Given the description of an element on the screen output the (x, y) to click on. 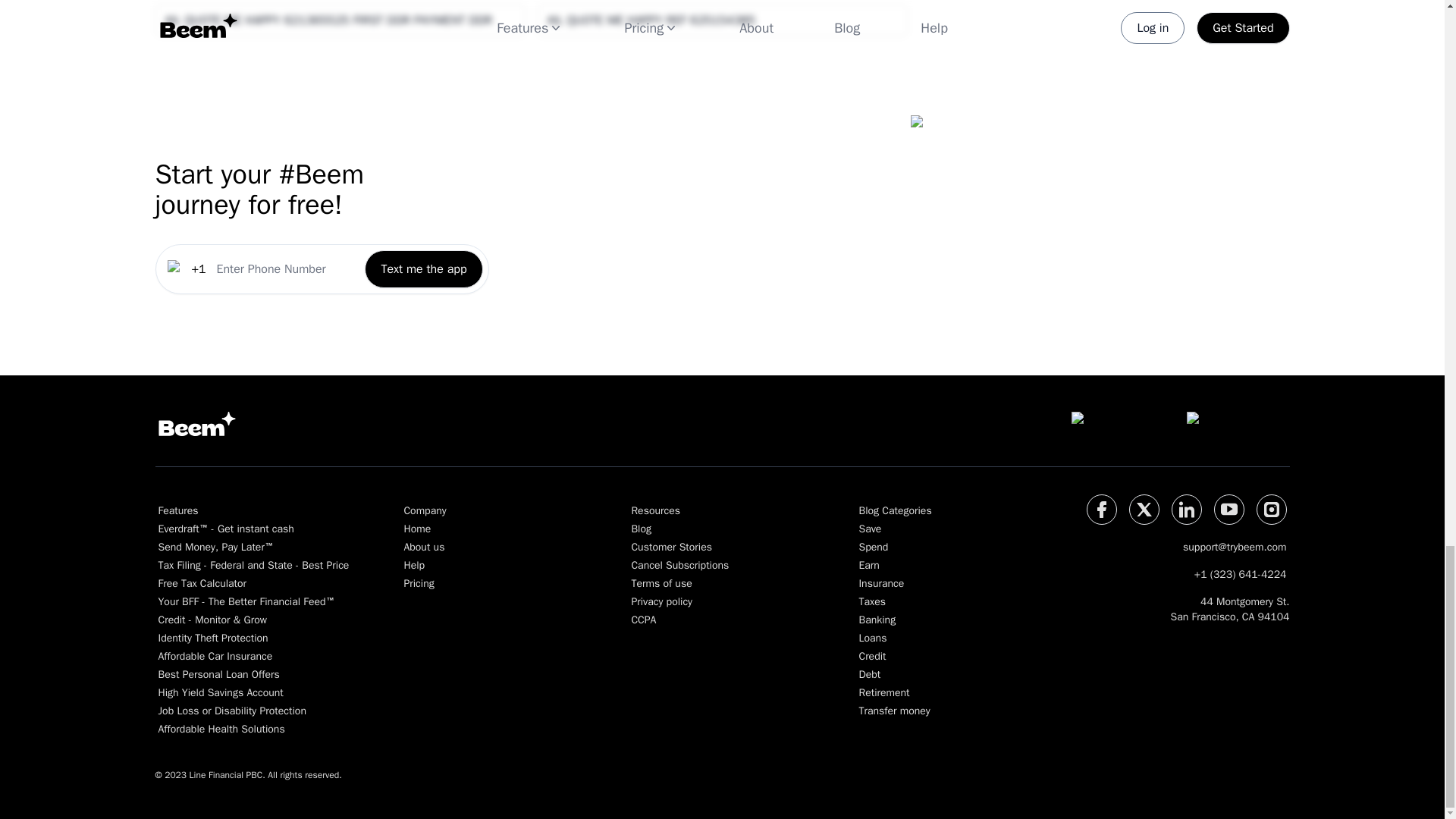
Pricing (489, 583)
About us (489, 547)
Affordable Health Solutions (253, 729)
Free Tax Calculator (253, 583)
Identity Theft Protection (253, 638)
Job Loss or Disability Protection (253, 711)
High Yield Savings Account (253, 693)
Text me the app (423, 281)
Affordable Car Insurance (253, 656)
Tax Filing - Federal and State - Best Price (253, 565)
Home (489, 529)
Help (489, 565)
Best Personal Loan Offers (253, 674)
